Given the description of an element on the screen output the (x, y) to click on. 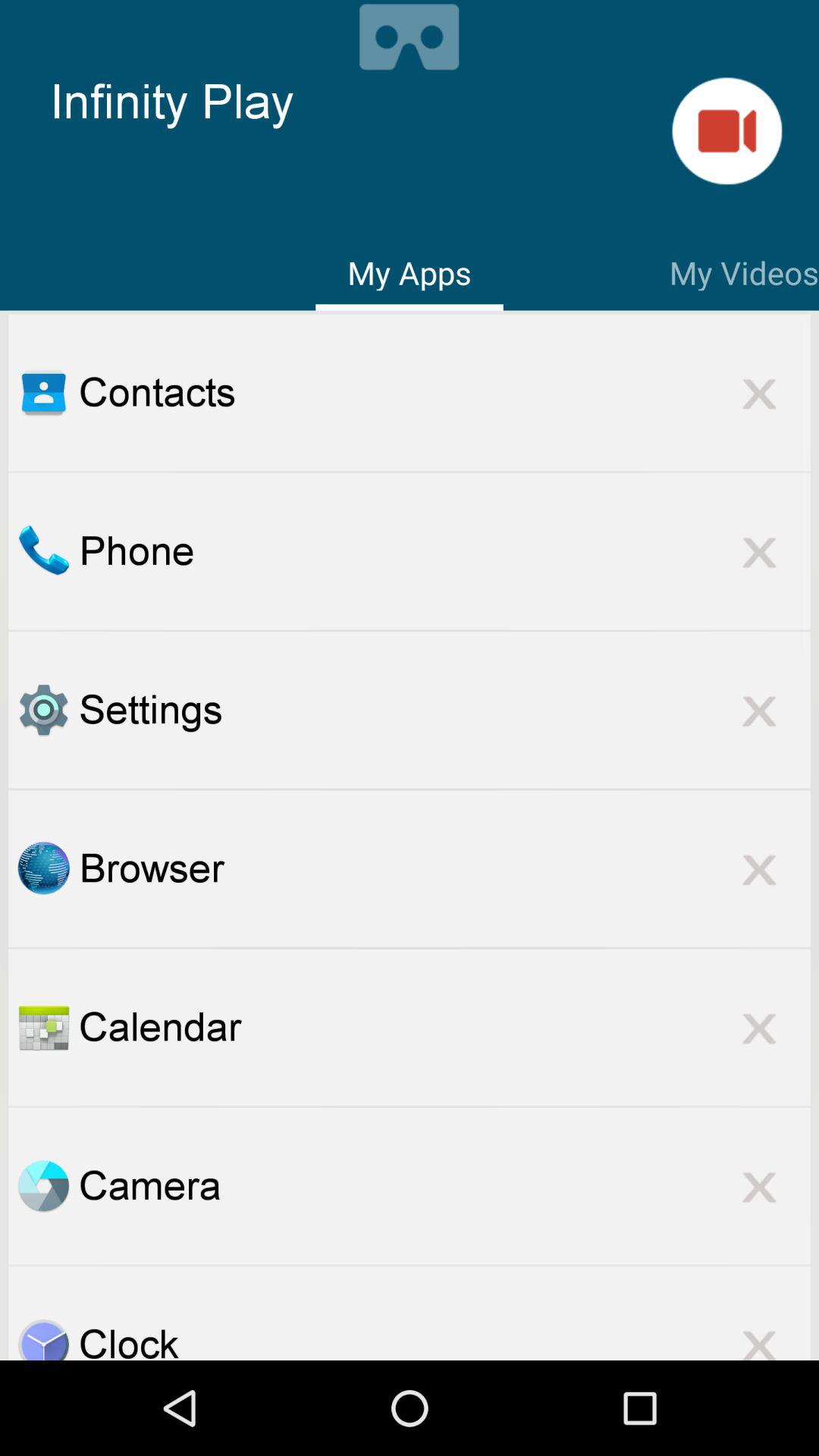
remove item from my apps list (759, 551)
